Given the description of an element on the screen output the (x, y) to click on. 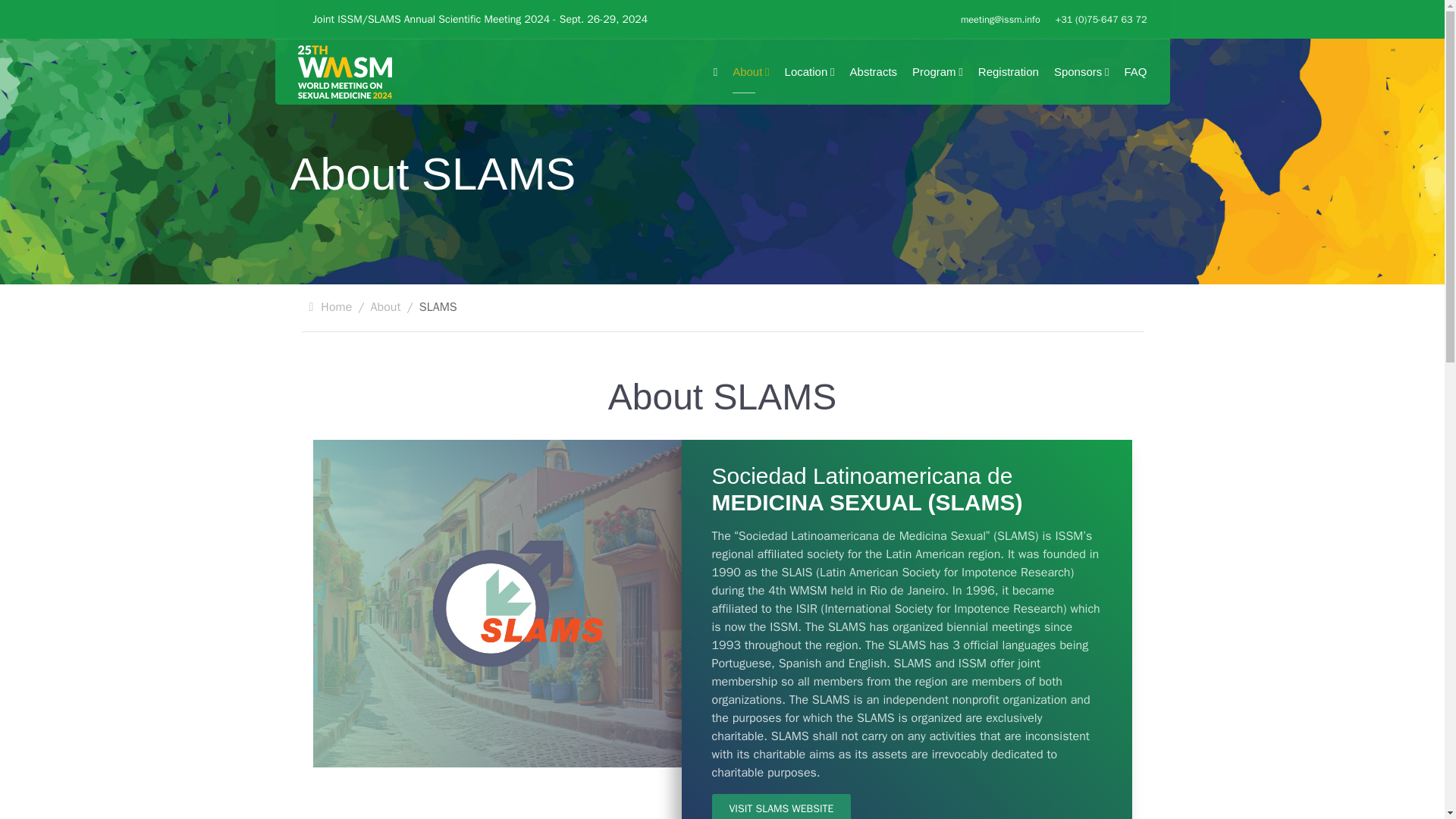
Abstracts (874, 71)
VISIT SLAMS WEBSITE (780, 806)
Registration (1008, 71)
Home (336, 307)
Sponsors (1081, 71)
About (386, 307)
Location (810, 71)
Program (937, 71)
